Given the description of an element on the screen output the (x, y) to click on. 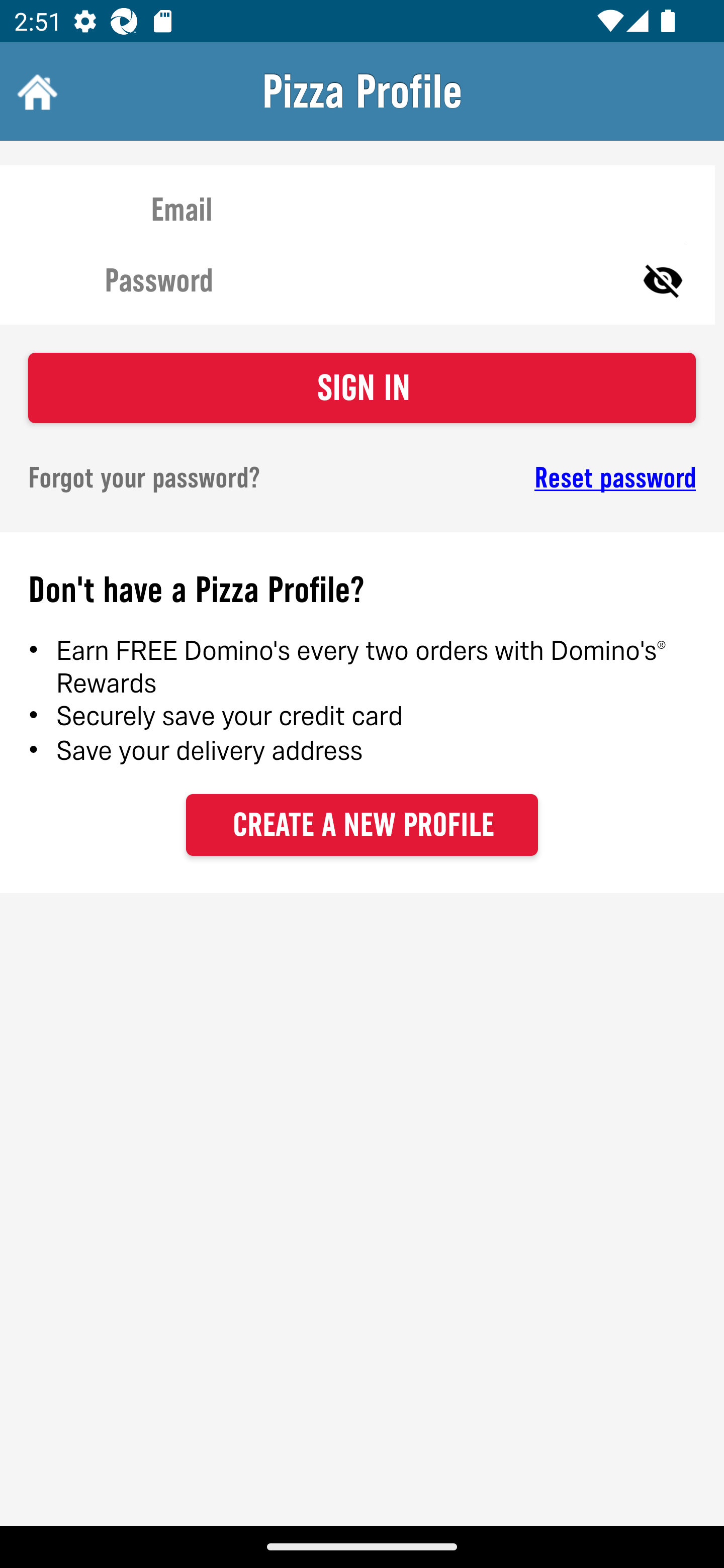
Home (35, 91)
Hide Password (663, 279)
SIGN IN (361, 387)
Reset password (545, 477)
CREATE A NEW PROFILE (361, 824)
